Given the description of an element on the screen output the (x, y) to click on. 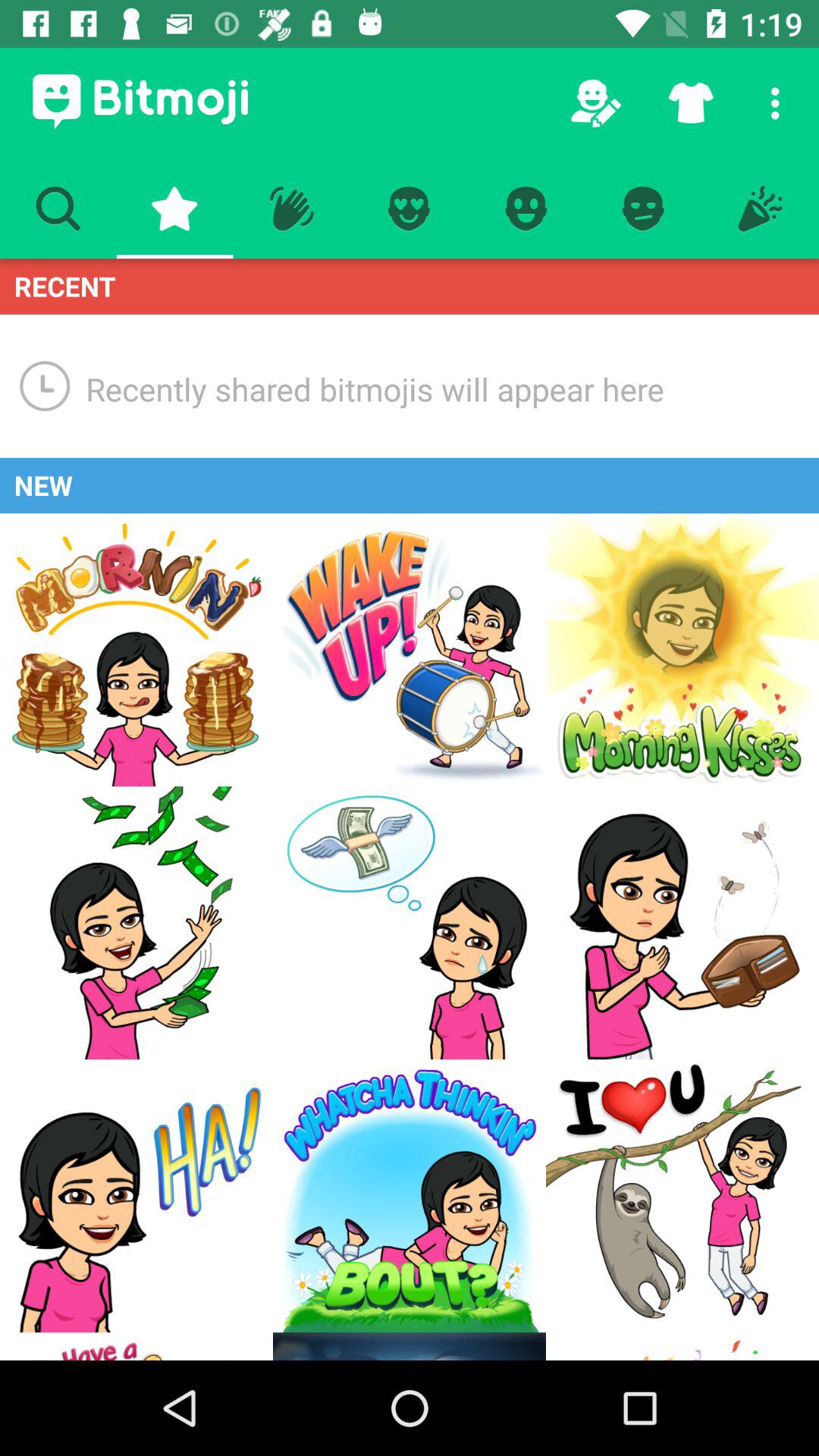
emoji click option (409, 922)
